Given the description of an element on the screen output the (x, y) to click on. 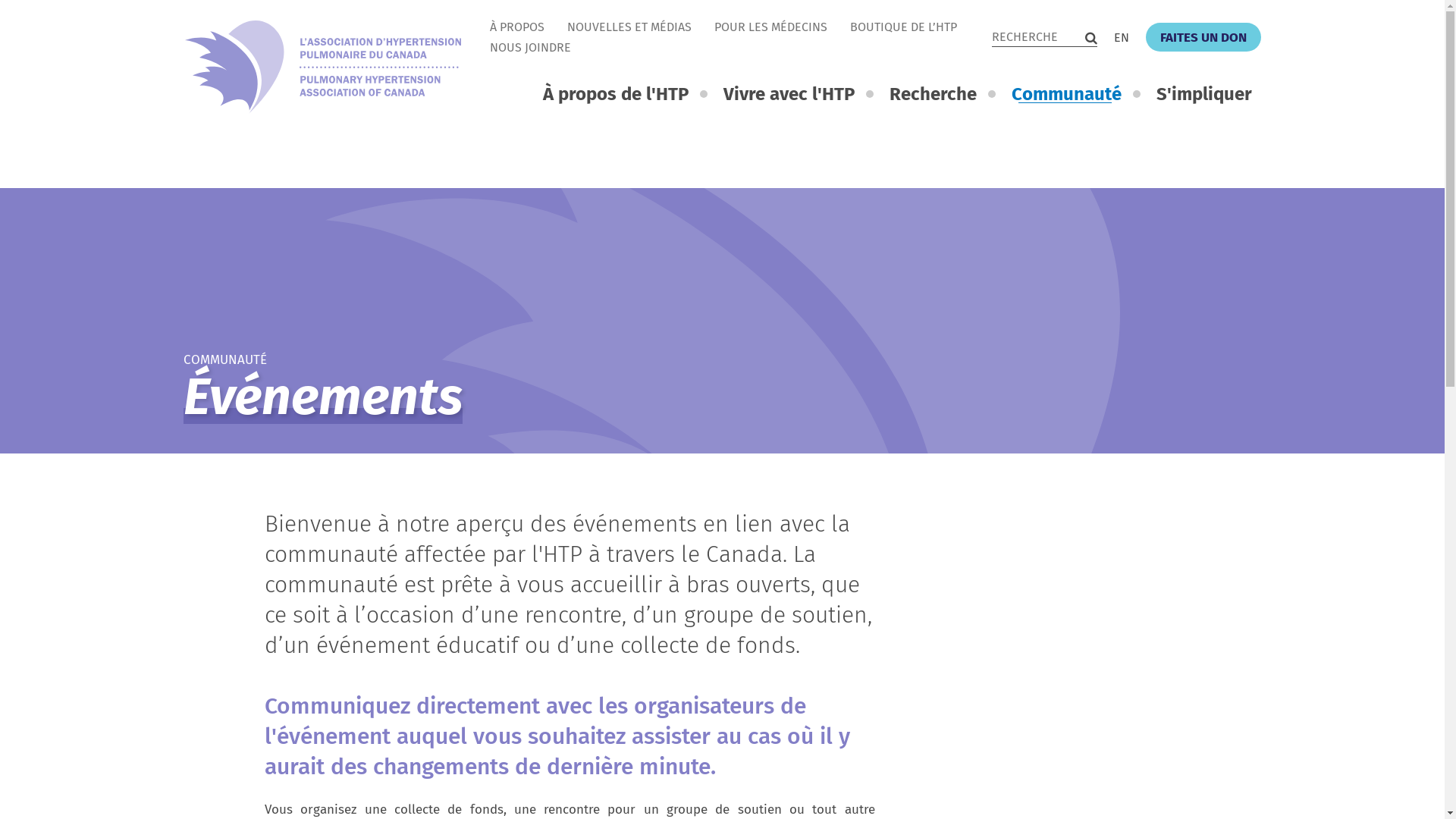
Recherche Element type: text (942, 93)
Vivre avec l'HTP Element type: text (798, 93)
EN Element type: text (1129, 37)
Skip navigation Element type: text (478, 16)
FAITES UN DON Element type: text (1203, 36)
NOUS JOINDRE Element type: text (530, 47)
Recherche Element type: text (1091, 37)
Passer au contenu principal Element type: text (7, 3)
S'impliquer Element type: text (1204, 93)
